Given the description of an element on the screen output the (x, y) to click on. 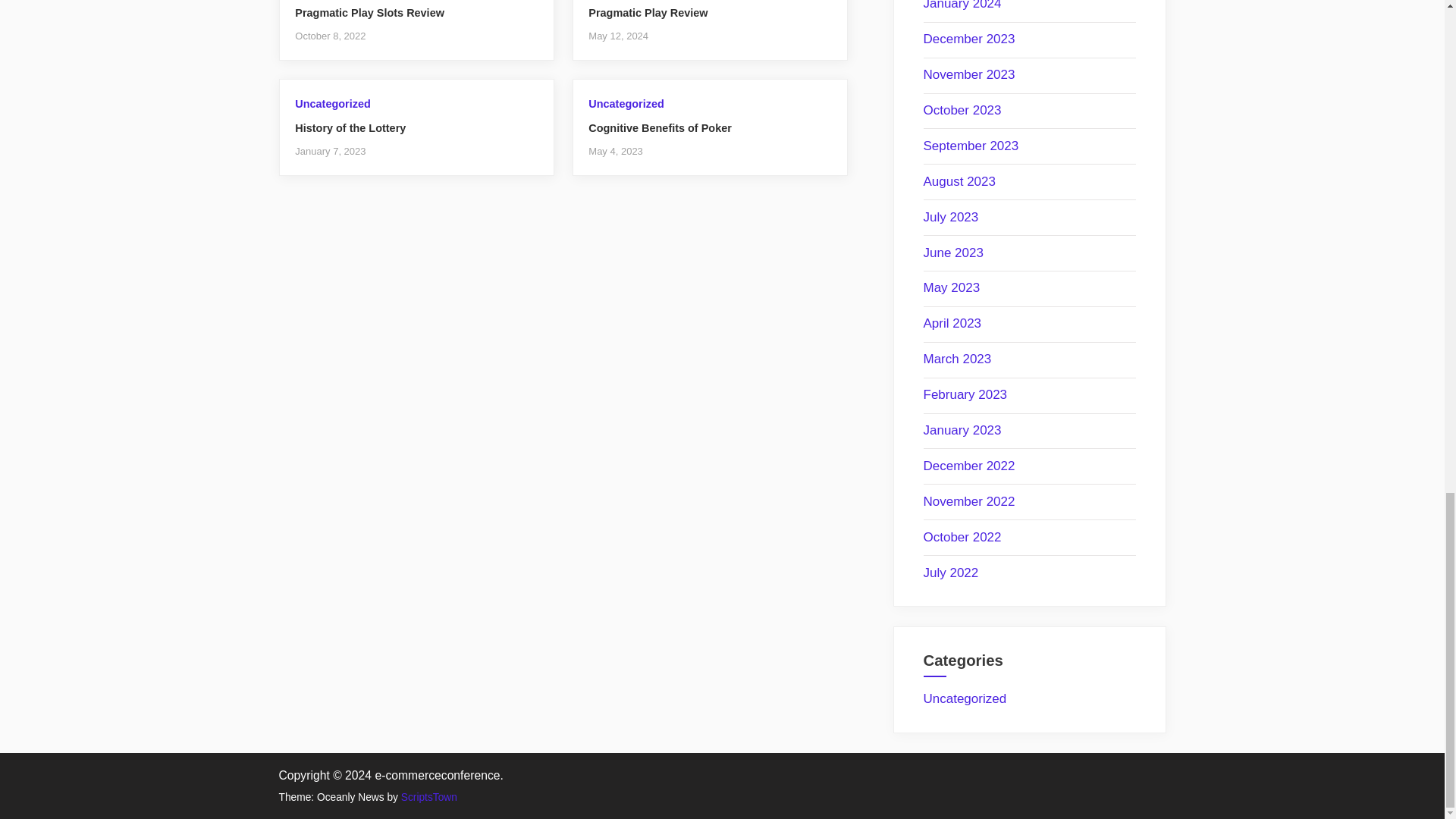
Uncategorized (625, 103)
September 2023 (971, 145)
Uncategorized (332, 103)
July 2023 (950, 216)
Pragmatic Play Review (647, 12)
Cognitive Benefits of Poker (660, 128)
October 2023 (962, 110)
December 2023 (968, 38)
November 2023 (968, 74)
History of the Lottery (350, 128)
August 2023 (959, 181)
Pragmatic Play Slots Review (369, 12)
January 2024 (962, 5)
